Given the description of an element on the screen output the (x, y) to click on. 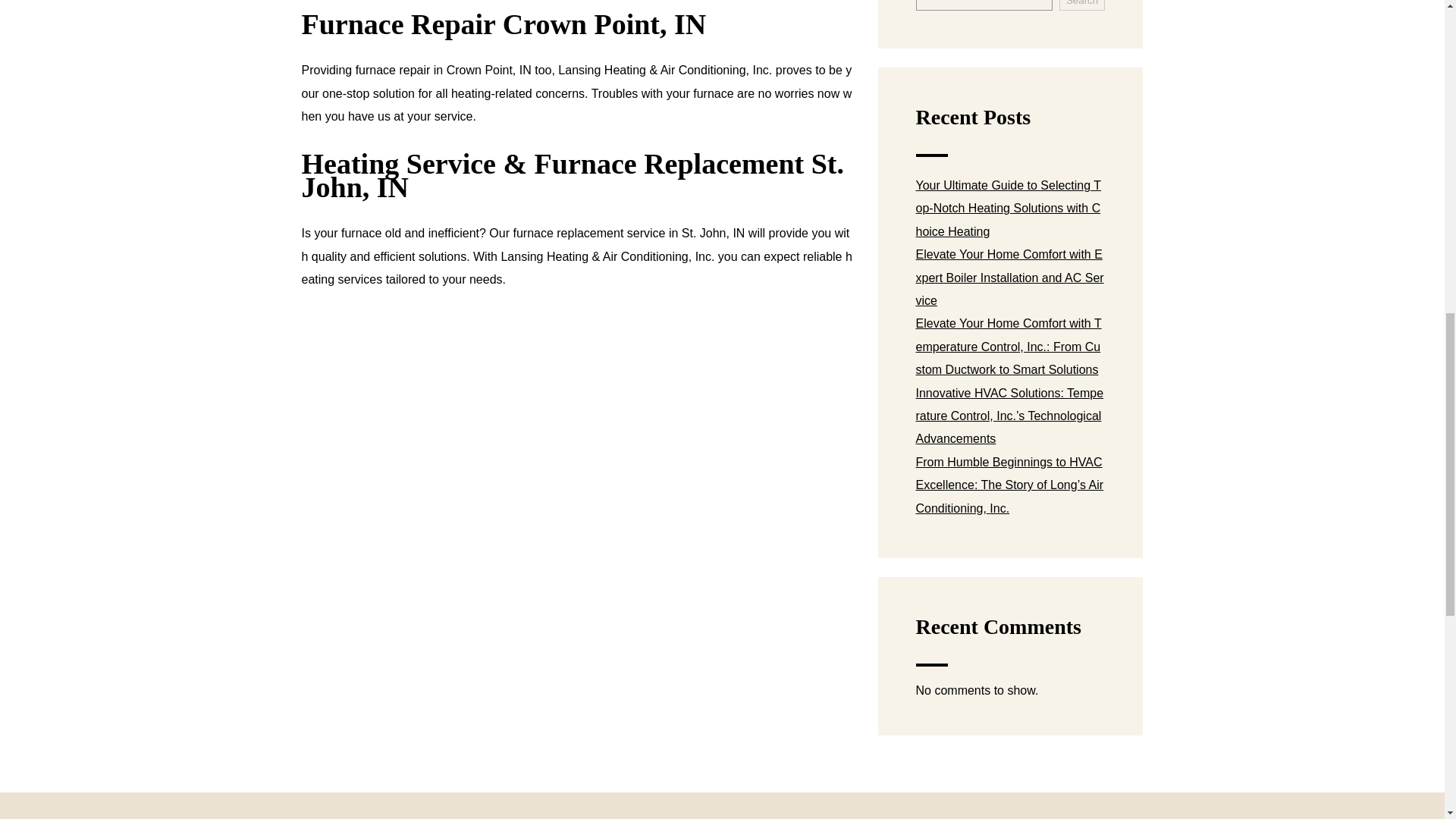
Search (1082, 5)
